Given the description of an element on the screen output the (x, y) to click on. 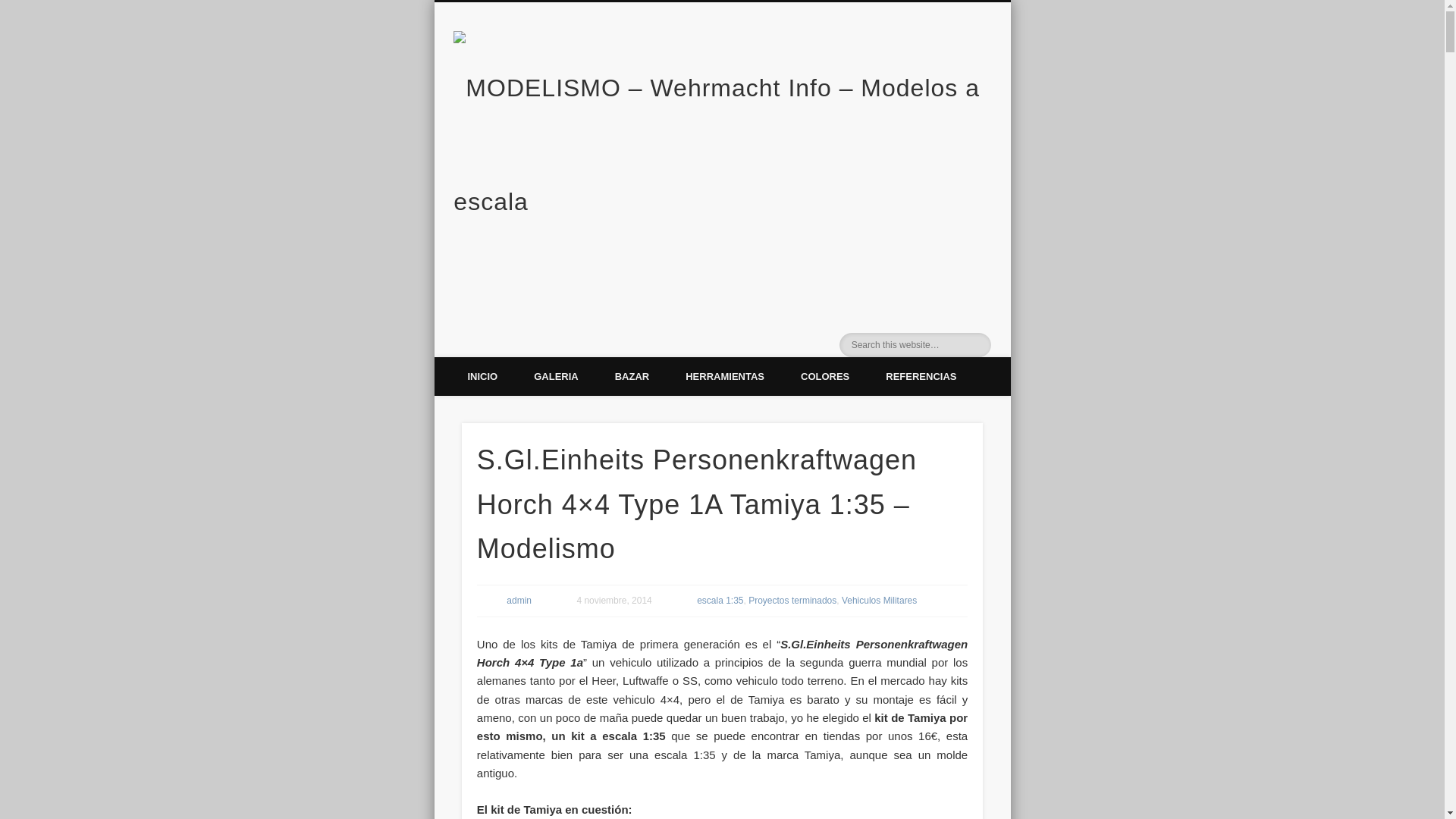
BAZAR (632, 376)
Search (11, 7)
GALERIA (555, 376)
Vehiculos Militares (879, 600)
INICIO (481, 376)
Proyectos terminados (791, 600)
admin (518, 600)
escala 1:35 (719, 600)
Entradas de admin (518, 600)
REFERENCIAS (920, 376)
